Given the description of an element on the screen output the (x, y) to click on. 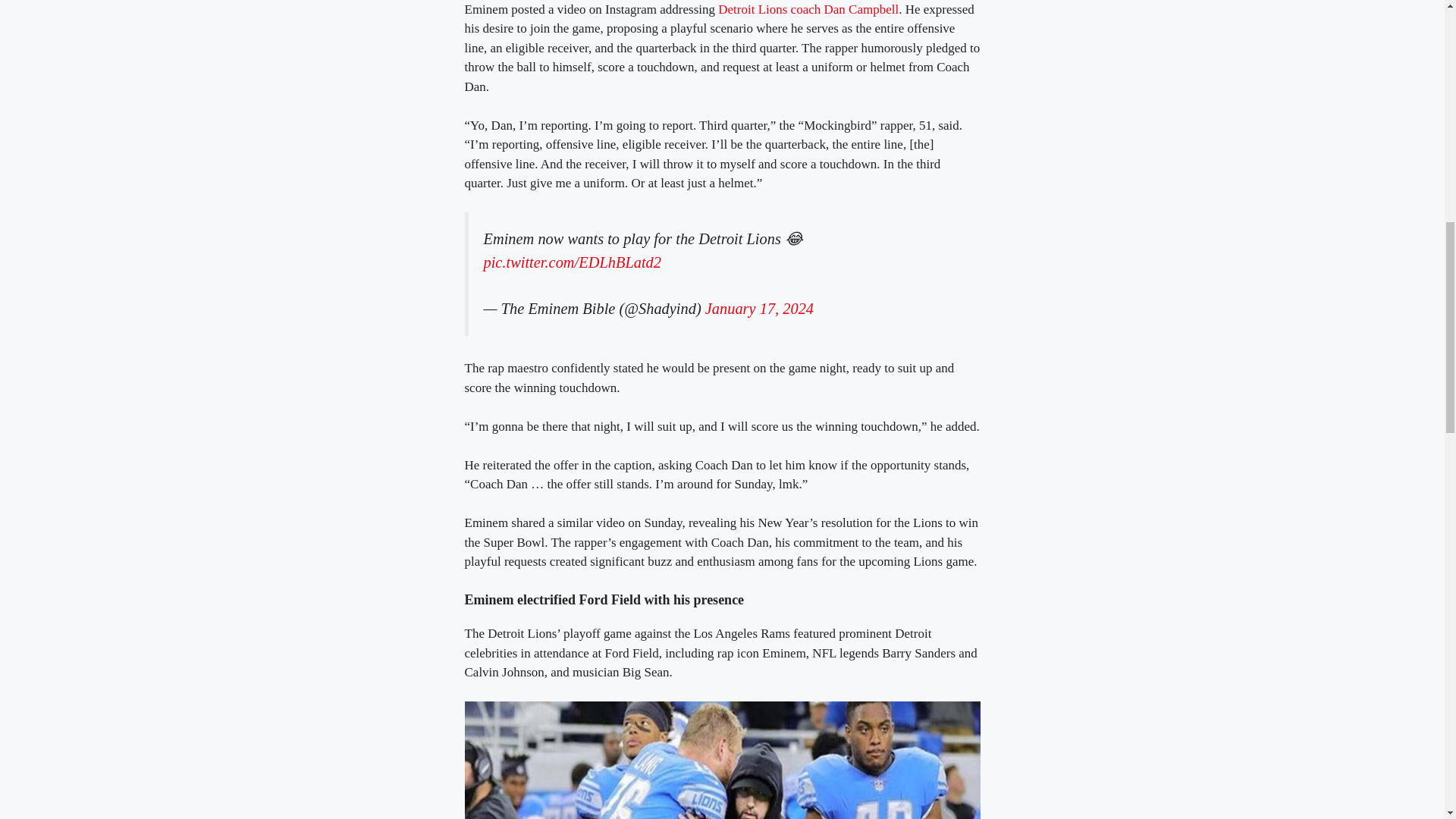
January 17, 2024 (758, 308)
Eminem (721, 760)
Detroit Lions coach Dan Campbell (807, 9)
